Given the description of an element on the screen output the (x, y) to click on. 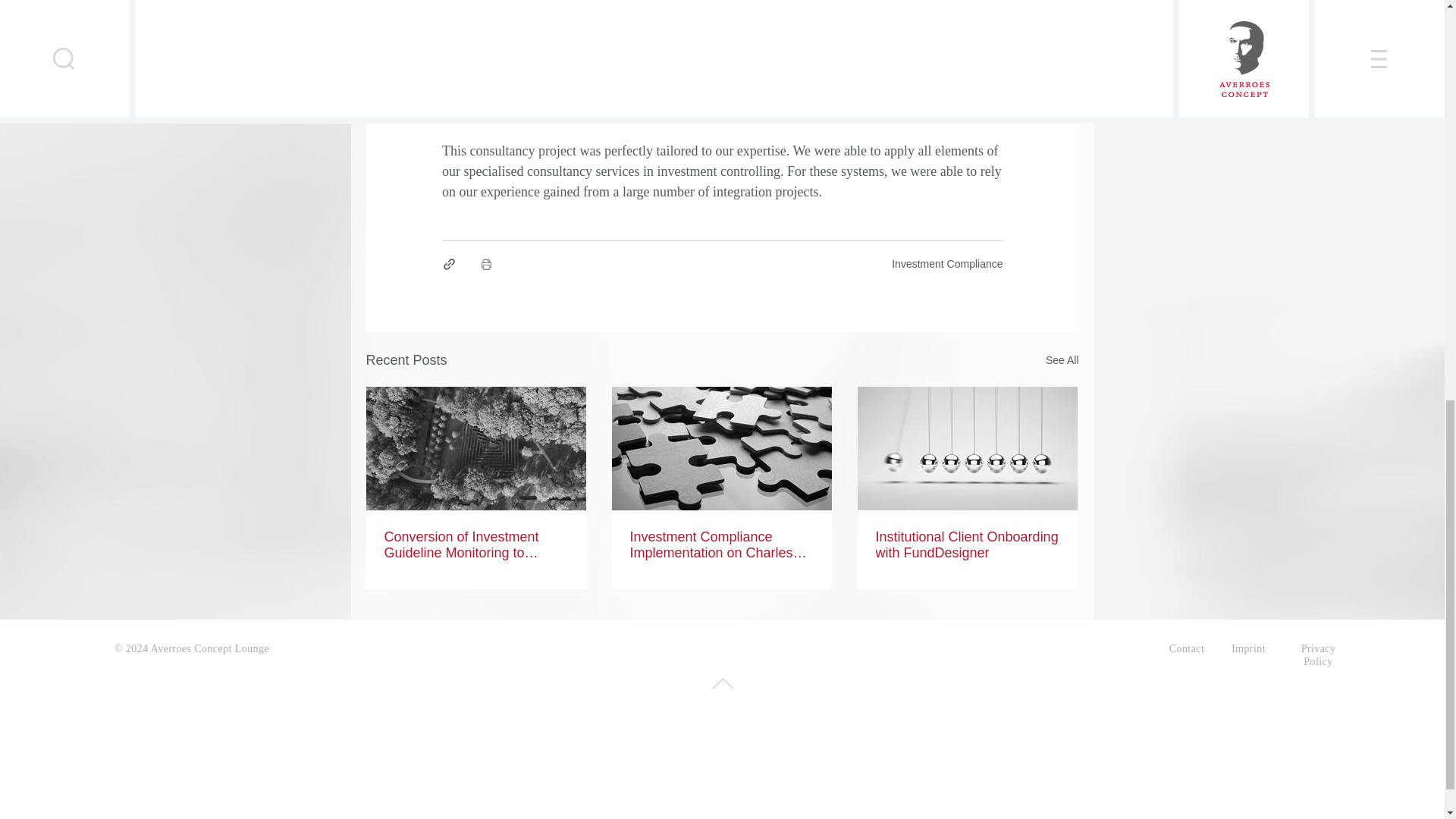
See All (1061, 360)
Imprint (1248, 648)
Investment Compliance Implementation on Charles River IMS (720, 545)
Privacy Policy (1318, 654)
Institutional Client Onboarding with FundDesigner (966, 545)
Contact (1187, 648)
Investment Compliance (947, 263)
